Given the description of an element on the screen output the (x, y) to click on. 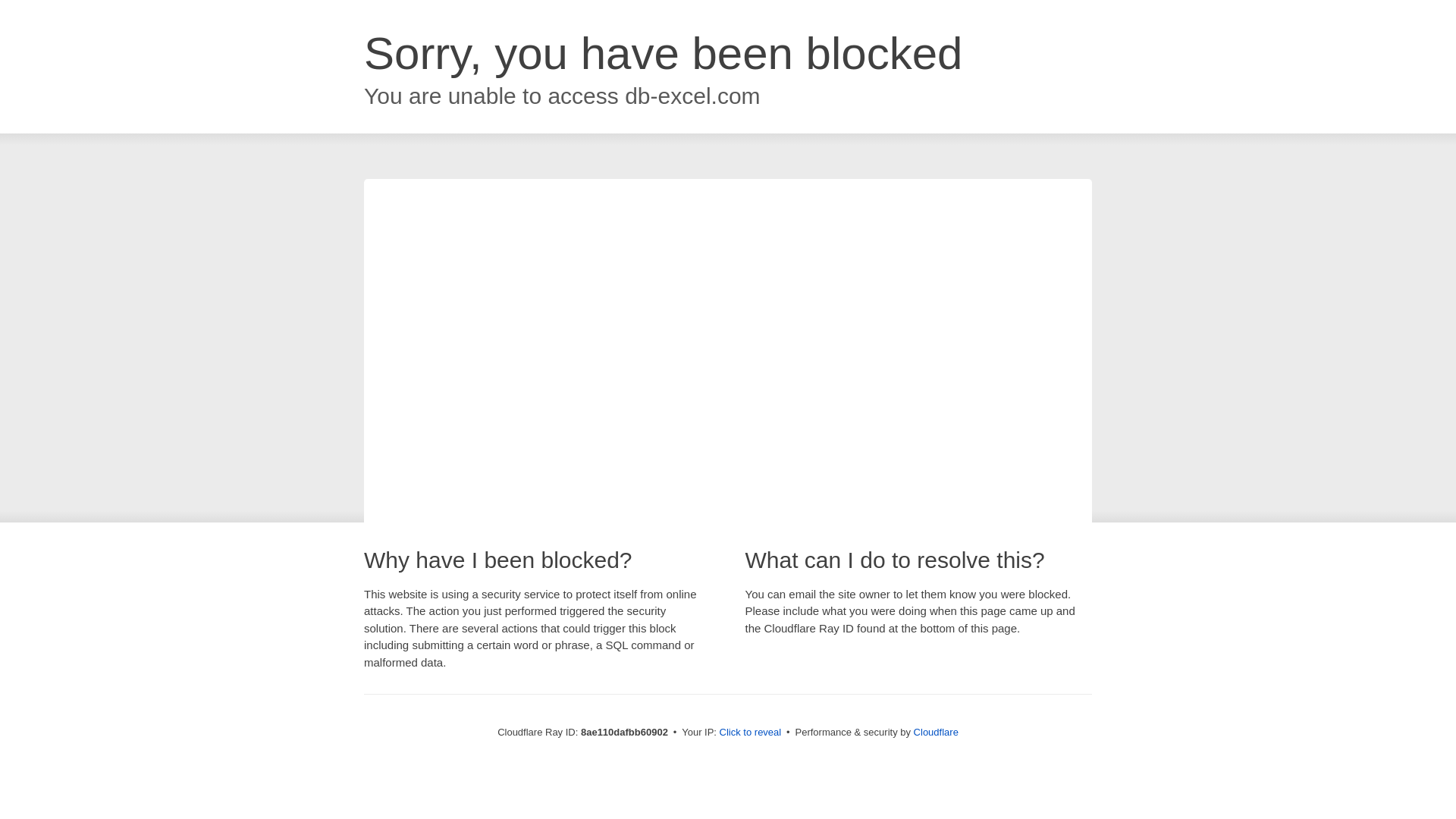
Click to reveal (750, 732)
Cloudflare (936, 731)
